Given the description of an element on the screen output the (x, y) to click on. 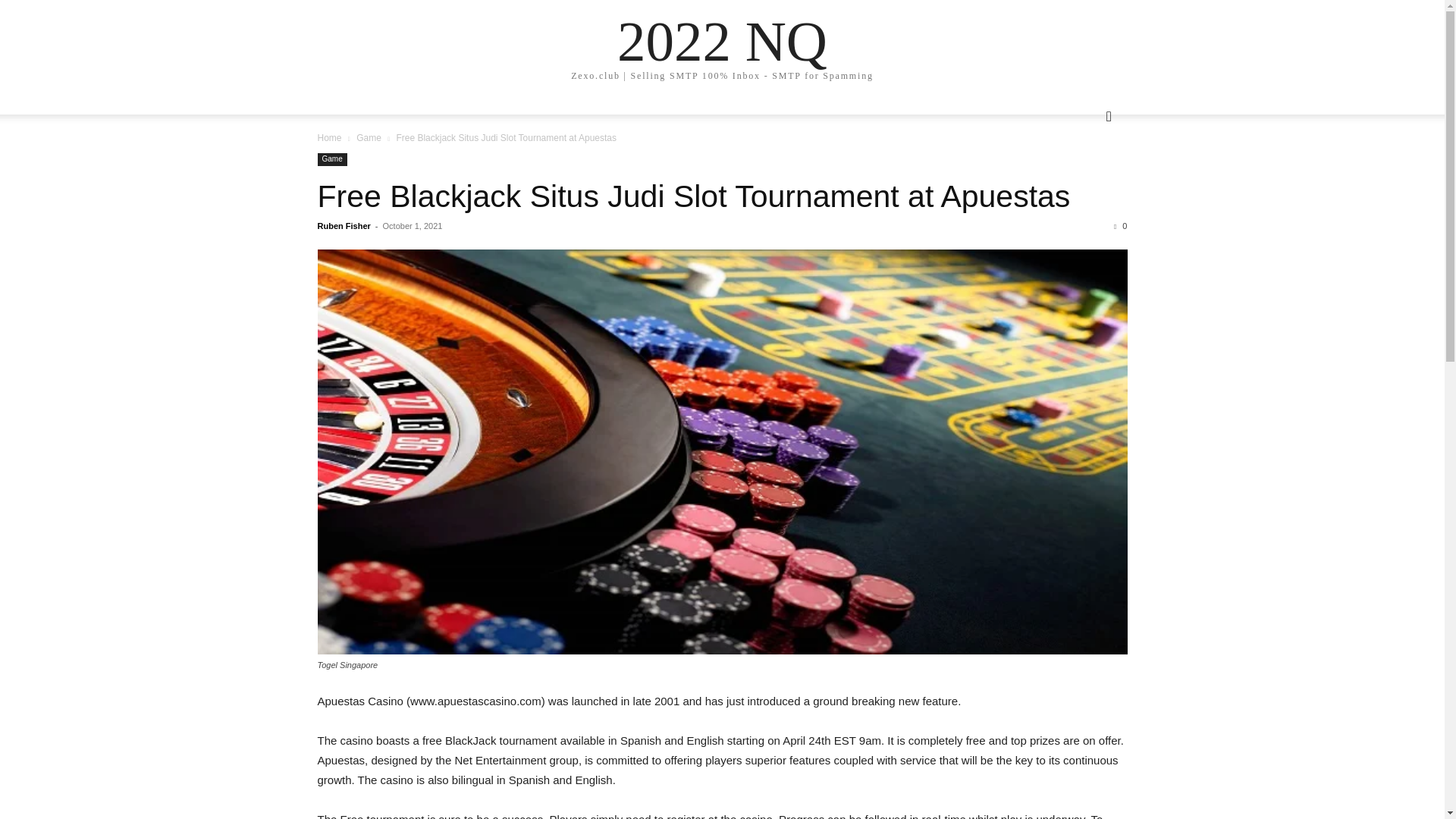
Home (328, 137)
2022 NQ (722, 41)
Free Blackjack Situs Judi Slot Tournament at Apuestas (693, 196)
View all posts in Game (368, 137)
Game (331, 159)
0 (1119, 225)
Search (1085, 177)
Game (368, 137)
